Given the description of an element on the screen output the (x, y) to click on. 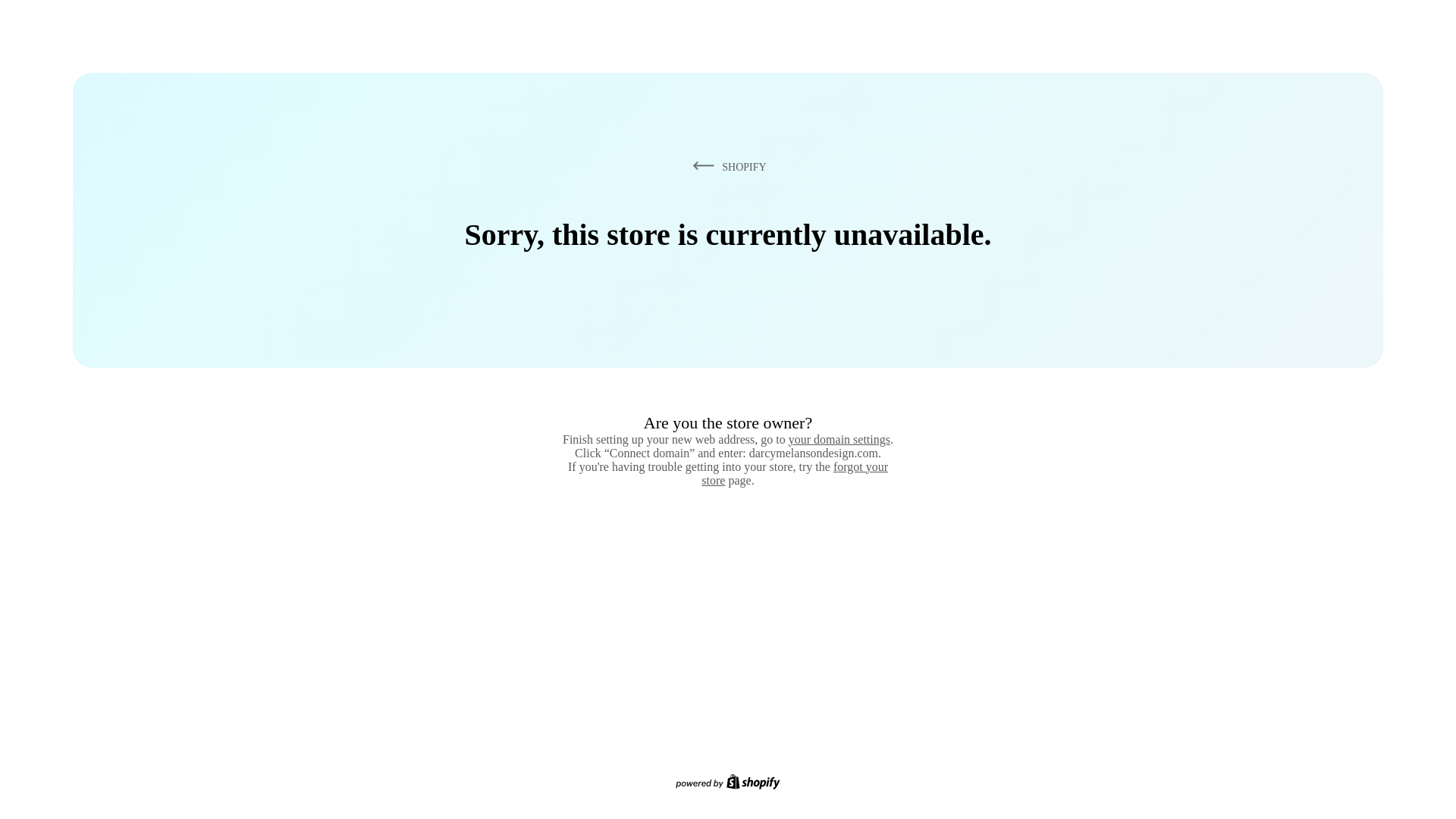
SHOPIFY (726, 166)
your domain settings (839, 439)
forgot your store (794, 473)
